Given the description of an element on the screen output the (x, y) to click on. 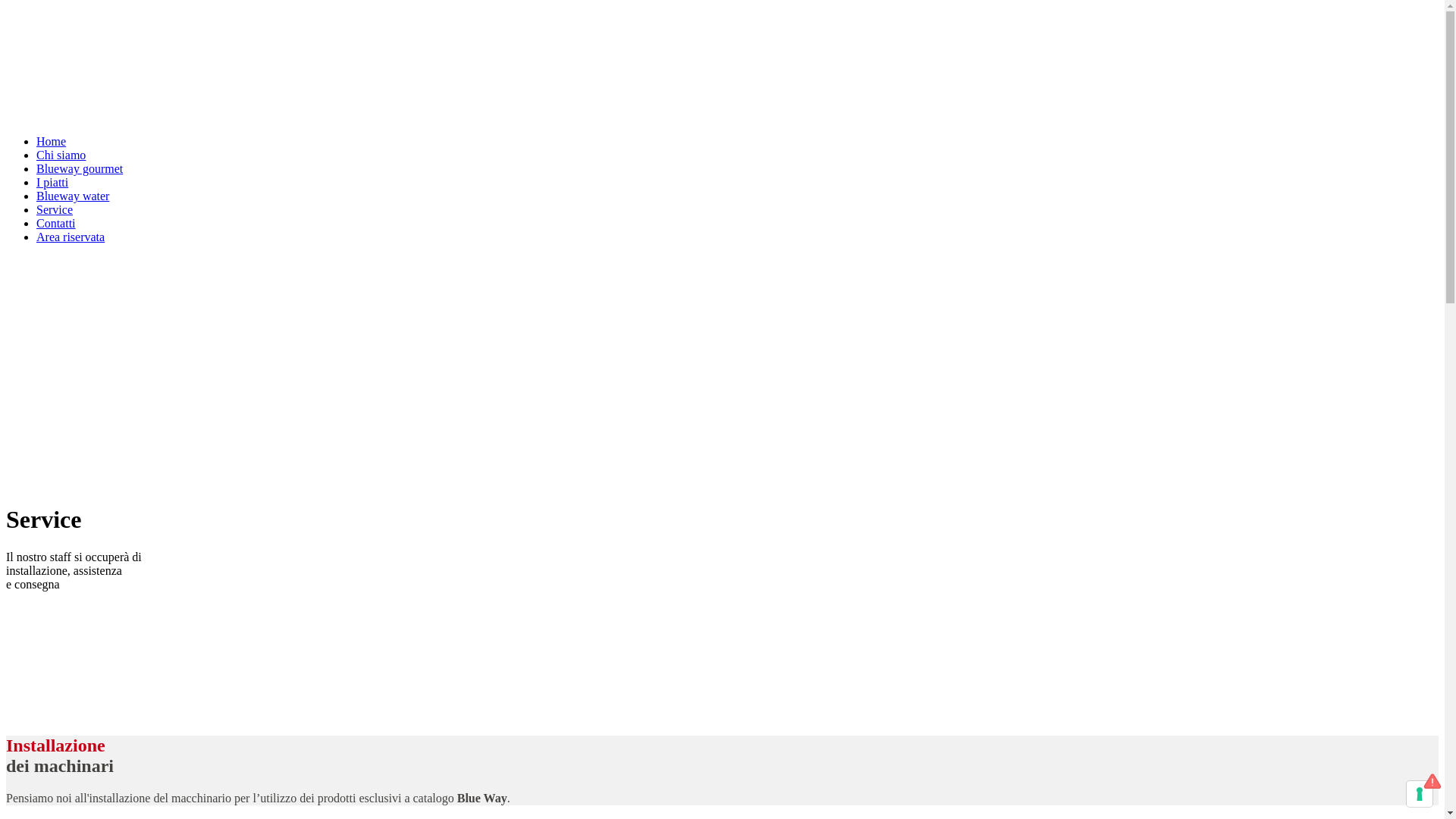
Contatti Element type: text (55, 222)
Home Element type: text (50, 140)
Blue Ocean Strategy Element type: hover (119, 115)
I piatti Element type: text (52, 181)
Blueway water Element type: text (72, 195)
Blueway gourmet Element type: text (79, 168)
Service Element type: text (54, 209)
Area riservata Element type: text (70, 236)
Chi siamo Element type: text (60, 154)
Richiedi informazioni Element type: hover (119, 712)
